Given the description of an element on the screen output the (x, y) to click on. 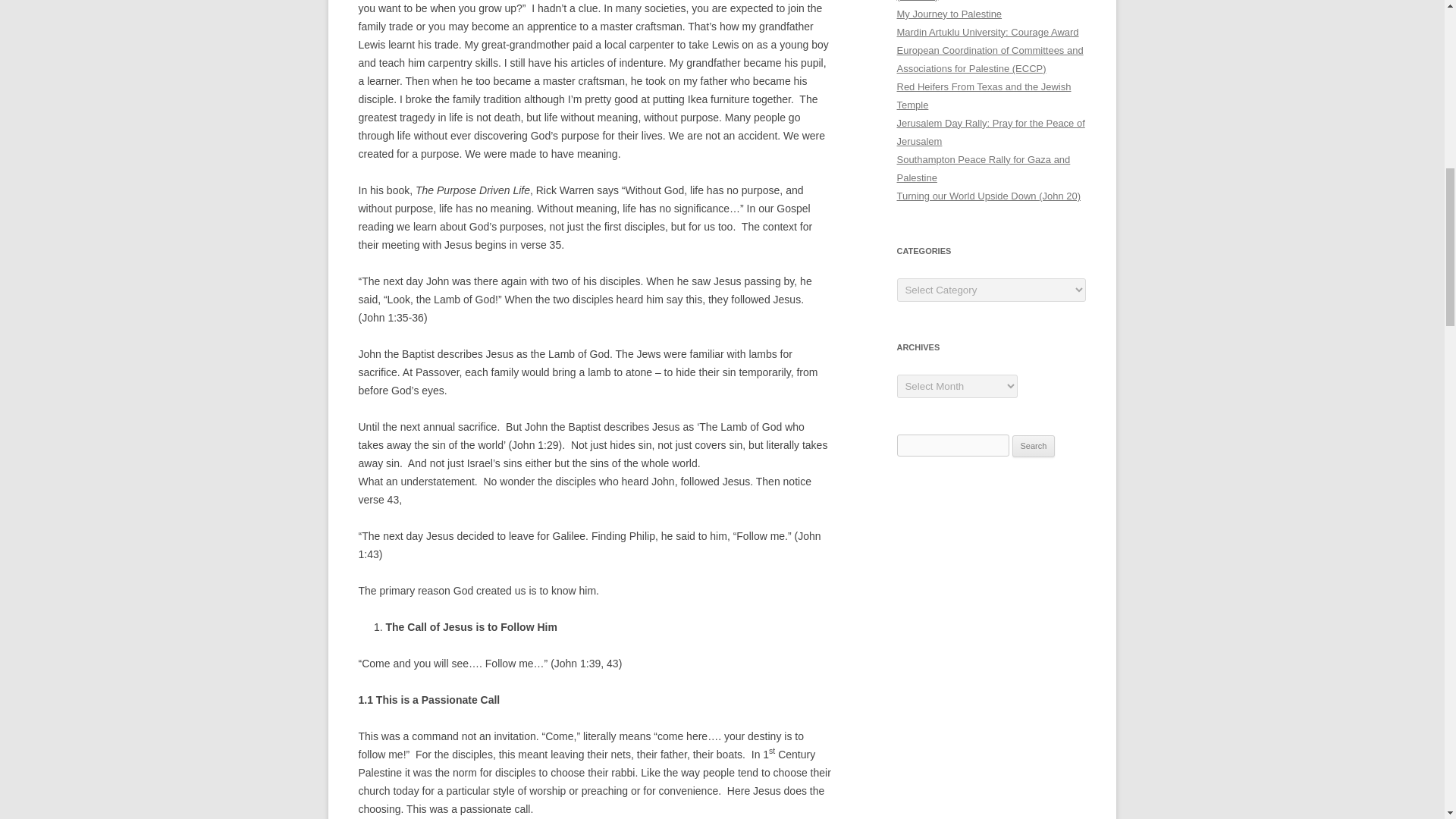
Mardin Artuklu University: Courage Award (987, 31)
My Journey to Palestine (948, 13)
Search (1033, 445)
